Given the description of an element on the screen output the (x, y) to click on. 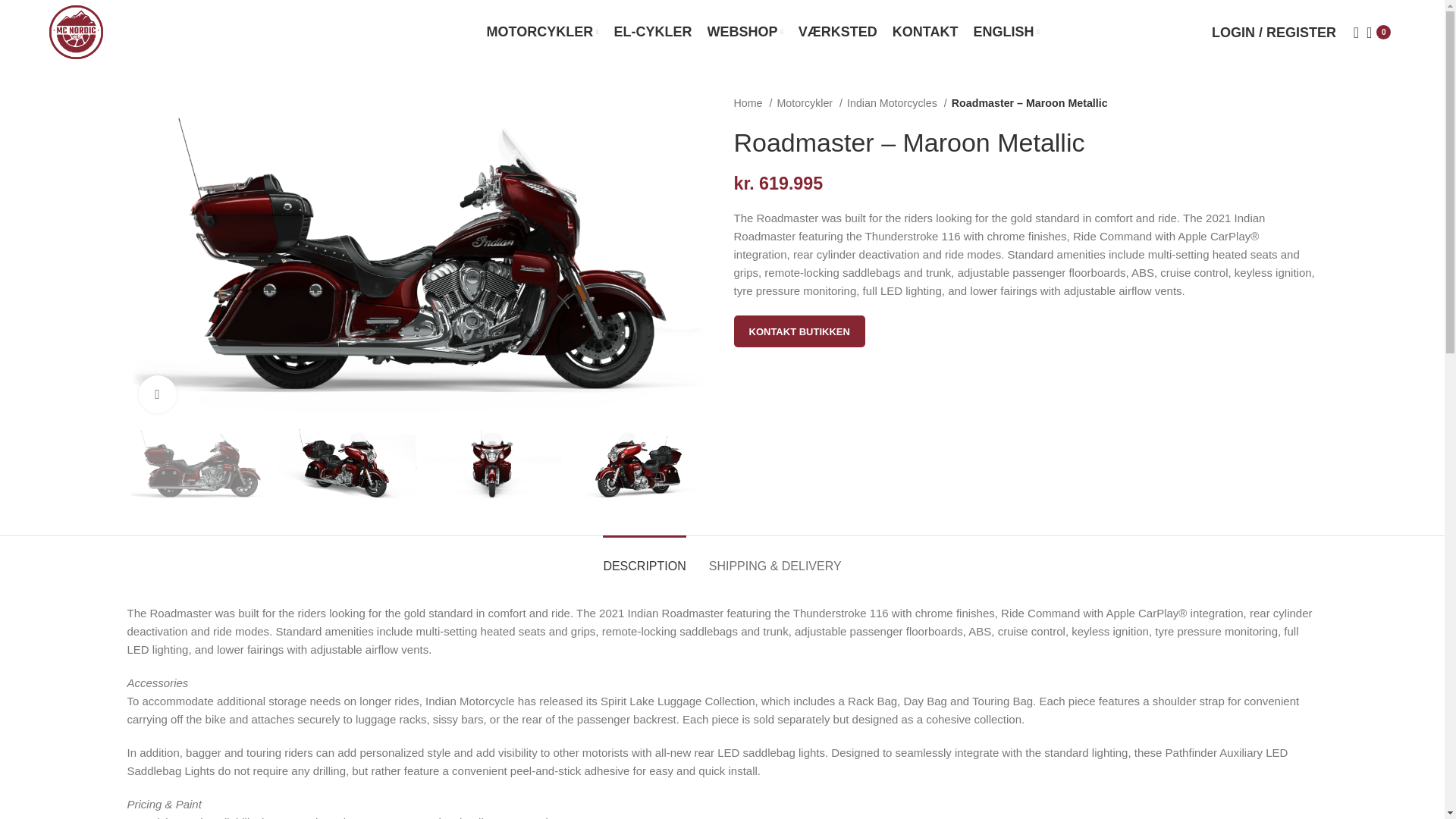
EL-CYKLER (653, 31)
ENGLISH (1005, 31)
WEBSHOP (744, 31)
MOTORCYKLER (542, 31)
KONTAKT (925, 31)
